Given the description of an element on the screen output the (x, y) to click on. 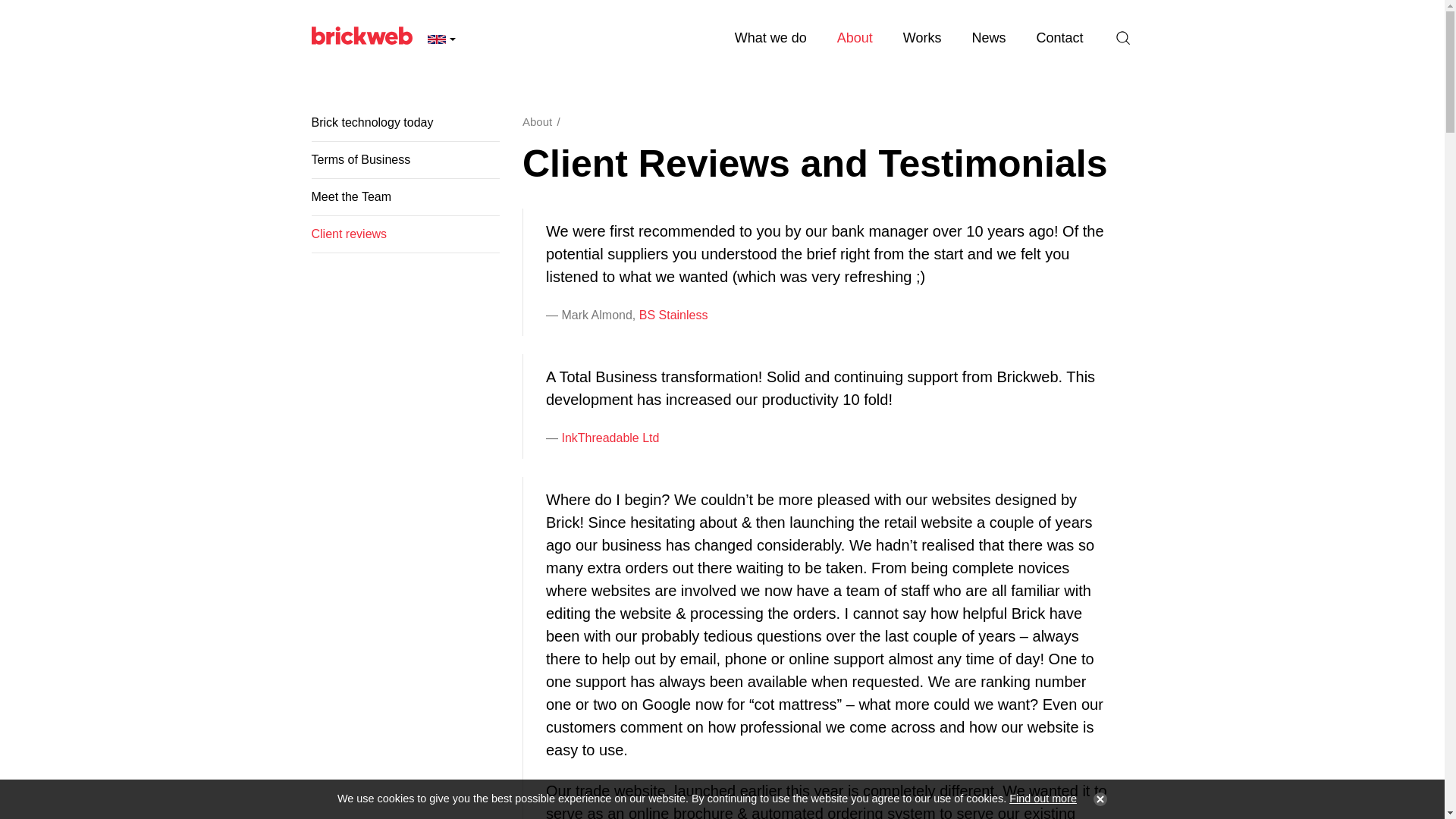
About (536, 121)
News (988, 37)
BS Stainless (673, 314)
Works (922, 37)
Brick technology today (405, 126)
Terms of Business (405, 159)
Contact (1058, 37)
What we do (770, 37)
Latest News. Check out the latest news Brick technology (988, 37)
